Given the description of an element on the screen output the (x, y) to click on. 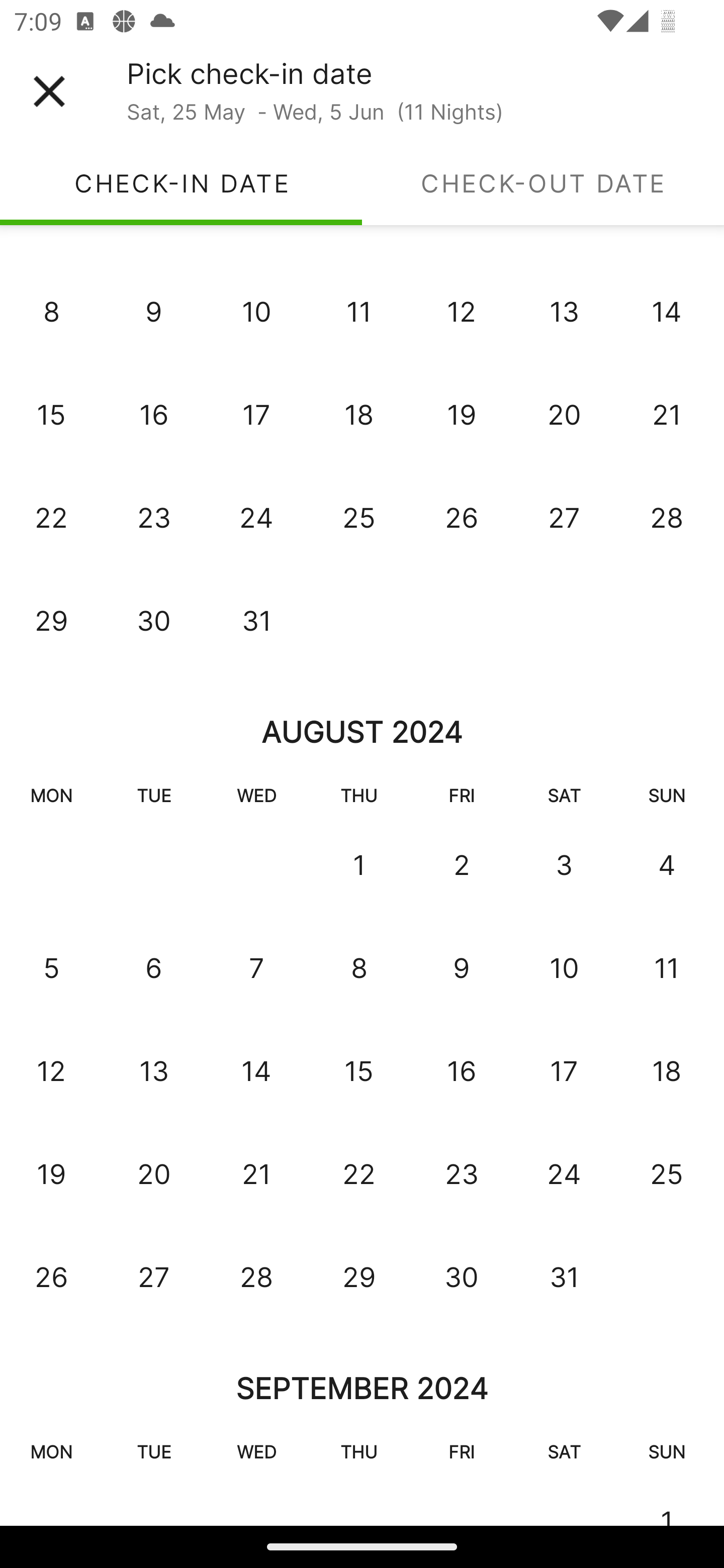
Check-out Date CHECK-OUT DATE (543, 183)
